Given the description of an element on the screen output the (x, y) to click on. 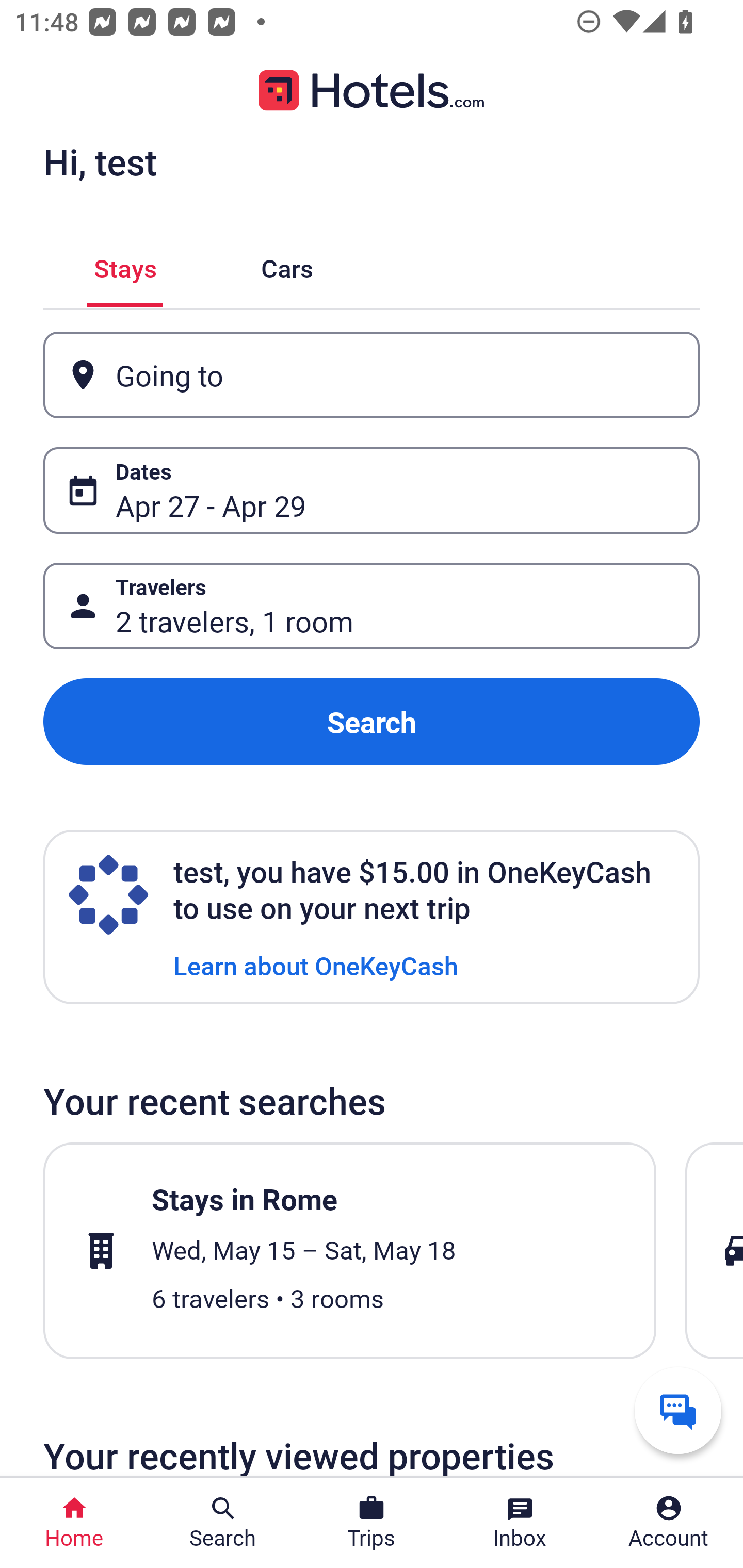
Hi, test (99, 161)
Cars (286, 265)
Going to Button (371, 375)
Dates Button Apr 27 - Apr 29 (371, 489)
Travelers Button 2 travelers, 1 room (371, 605)
Search (371, 721)
Learn about OneKeyCash Learn about OneKeyCash Link (315, 964)
Get help from a virtual agent (677, 1410)
Search Search Button (222, 1522)
Trips Trips Button (371, 1522)
Inbox Inbox Button (519, 1522)
Account Profile. Button (668, 1522)
